Given the description of an element on the screen output the (x, y) to click on. 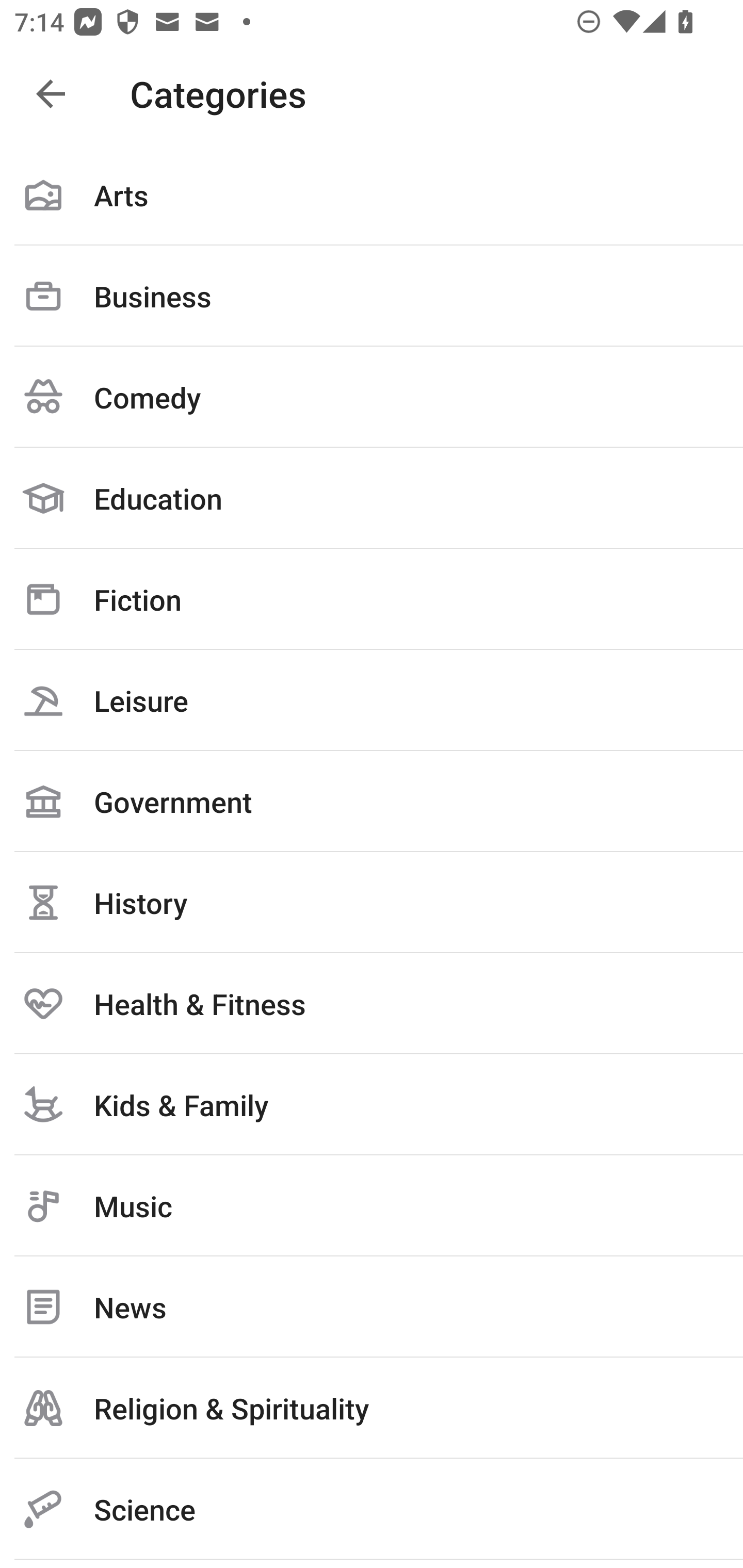
Navigate up (50, 93)
Arts (371, 195)
Business (371, 296)
Comedy (371, 397)
Education (371, 498)
Fiction (371, 598)
Leisure (371, 700)
Government (371, 801)
History (371, 902)
Health & Fitness (371, 1003)
Kids & Family (371, 1104)
Music (371, 1205)
News (371, 1306)
Religion & Spirituality (371, 1407)
Science (371, 1509)
